Given the description of an element on the screen output the (x, y) to click on. 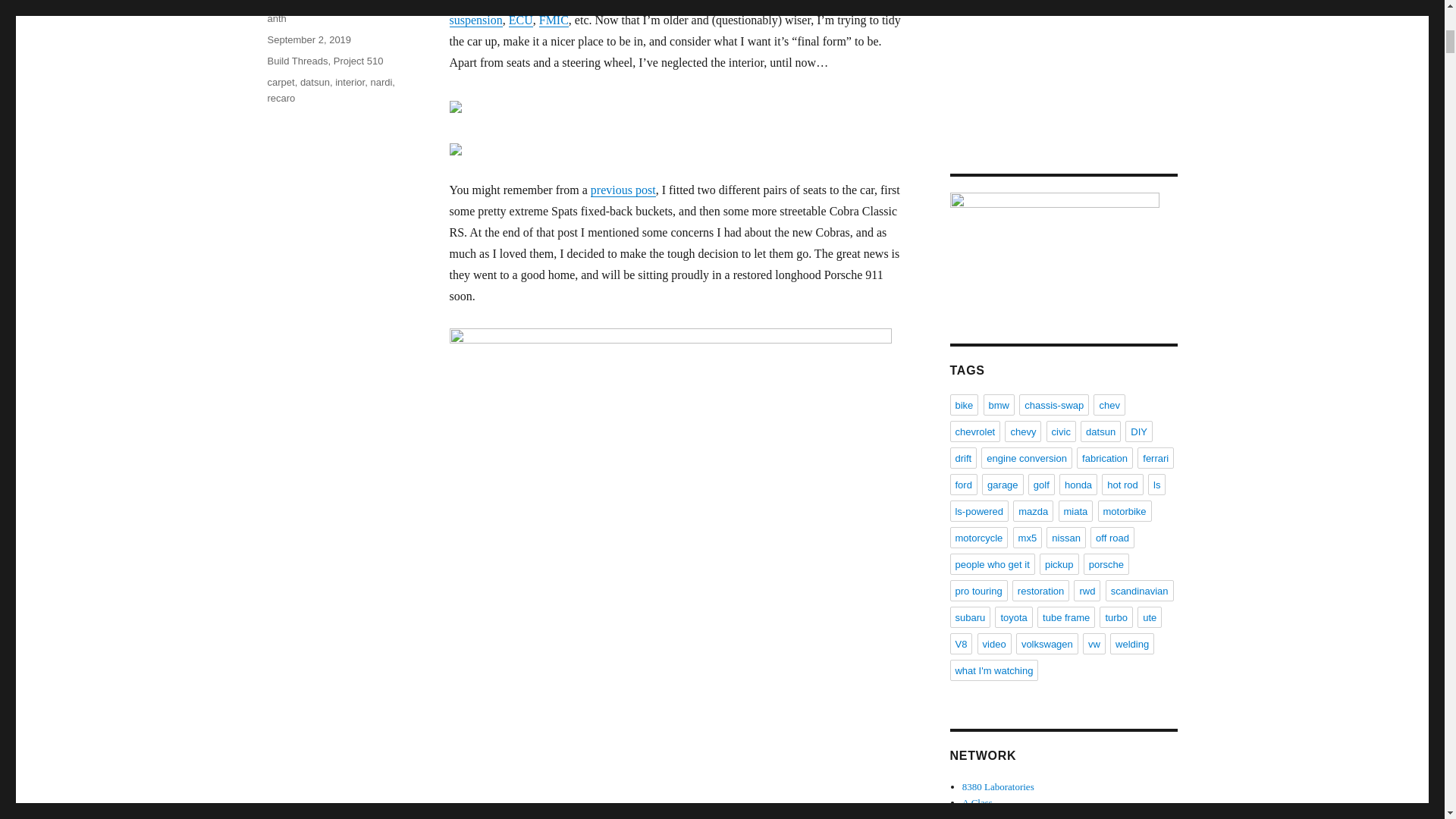
FMIC (553, 19)
wheels (881, 2)
recaro (280, 98)
ECU (520, 19)
September 2, 2019 (308, 39)
interior (349, 81)
carpet (280, 81)
nardi (380, 81)
previous post (623, 189)
Build Threads (296, 60)
